Given the description of an element on the screen output the (x, y) to click on. 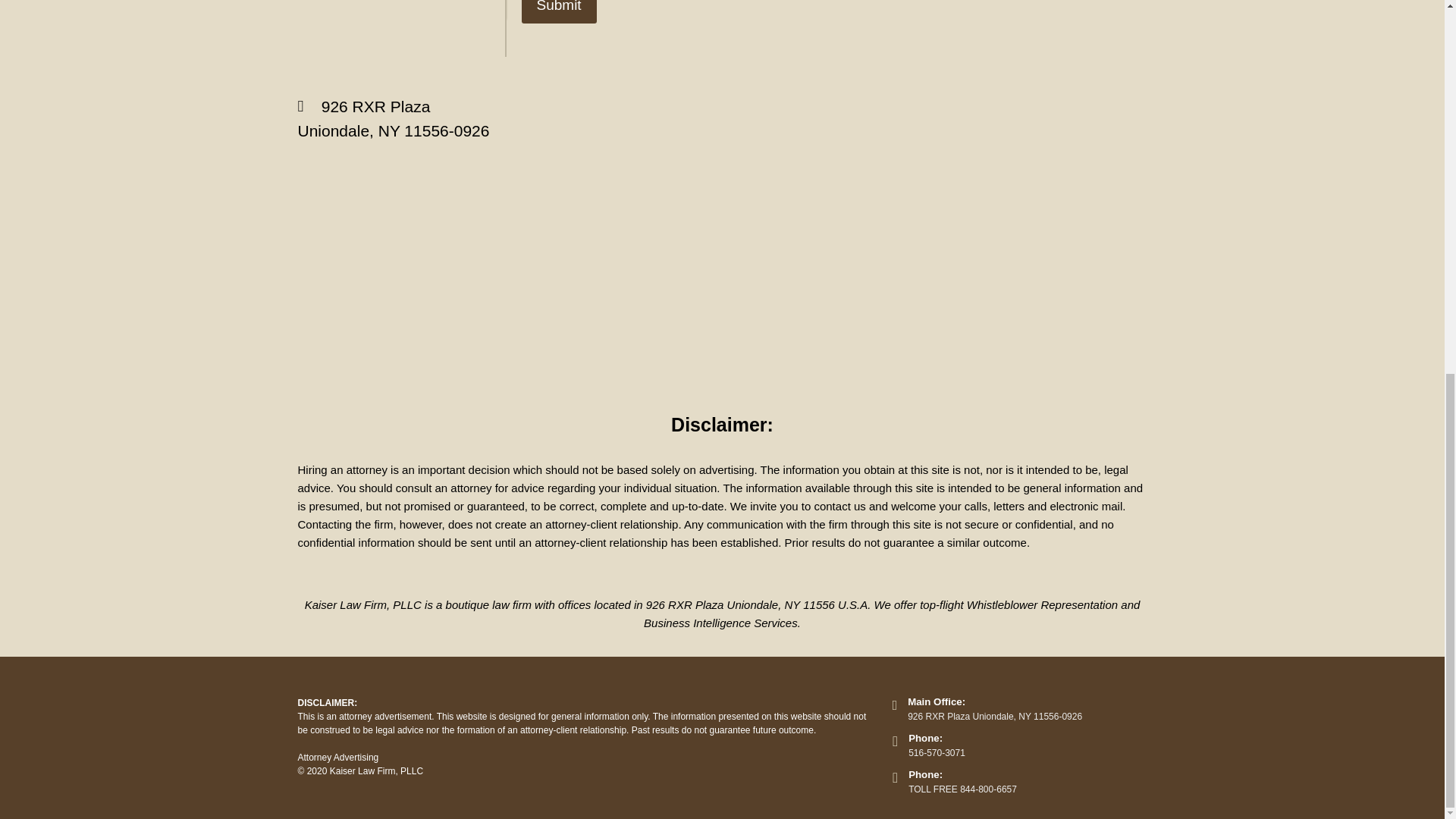
Phone: (925, 774)
Submit (558, 11)
Submit (558, 11)
